Given the description of an element on the screen output the (x, y) to click on. 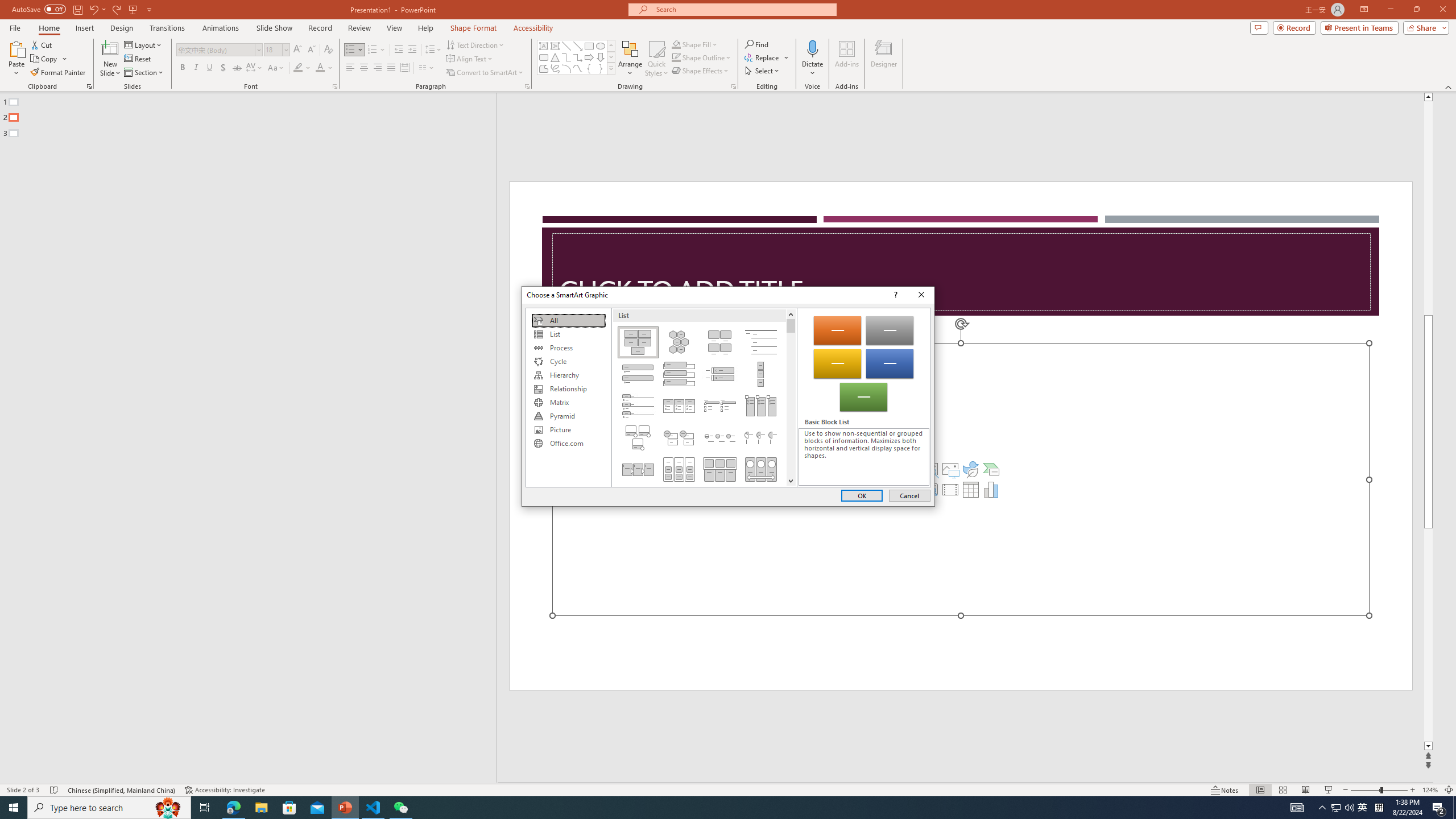
Lined List (761, 342)
Picture (568, 429)
Varying Width List (761, 373)
Horizontal Bullet List (678, 405)
